Given the description of an element on the screen output the (x, y) to click on. 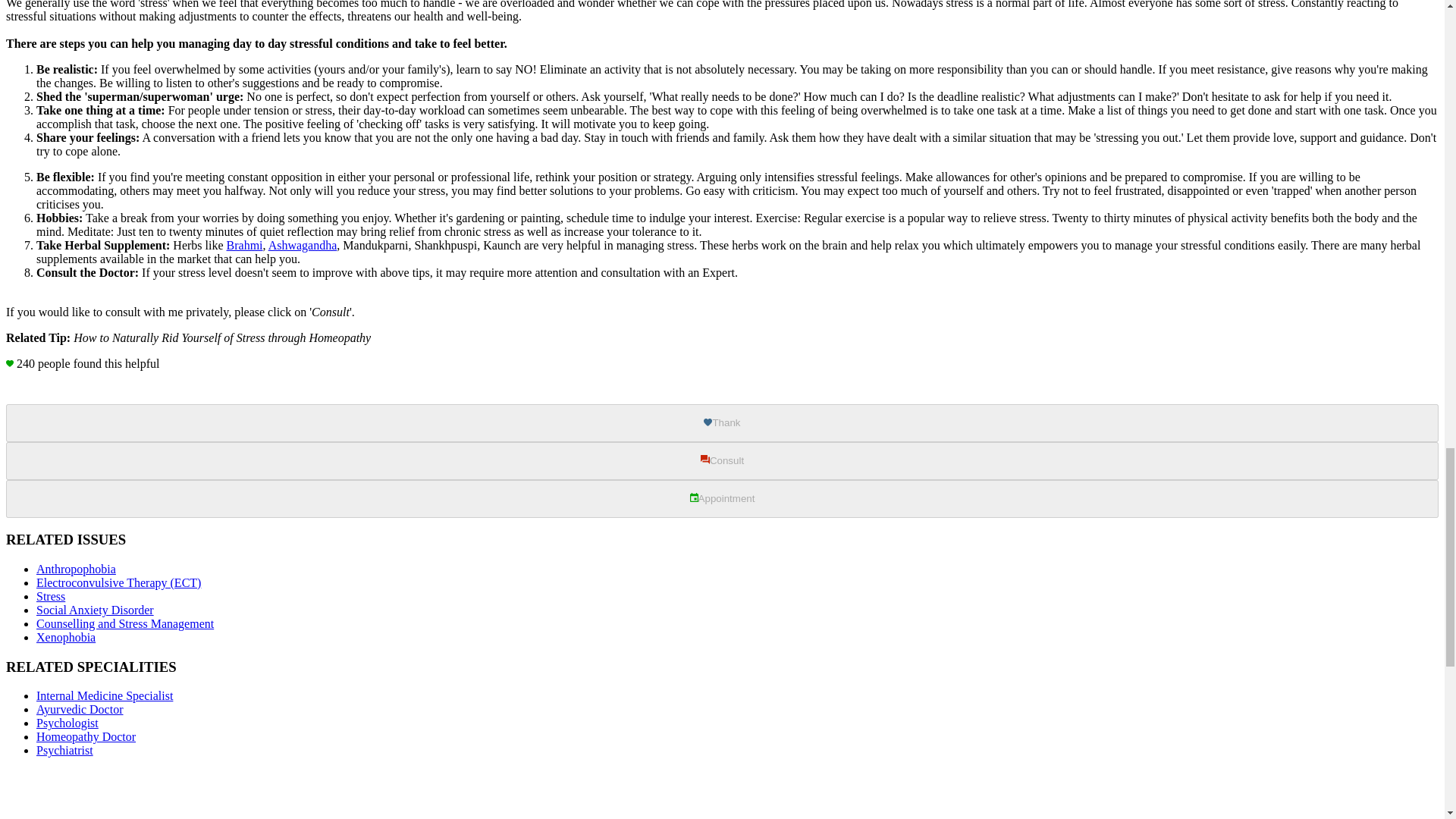
Xenophobia (66, 636)
Counselling and Stress Management (125, 623)
Homeopathy Doctor (85, 736)
Brahmi (245, 244)
Psychologist (67, 722)
Internal Medicine Specialist (104, 695)
Psychiatrist (64, 749)
Ashwagandha (302, 244)
Stress (50, 595)
Social Anxiety Disorder (95, 609)
